Given the description of an element on the screen output the (x, y) to click on. 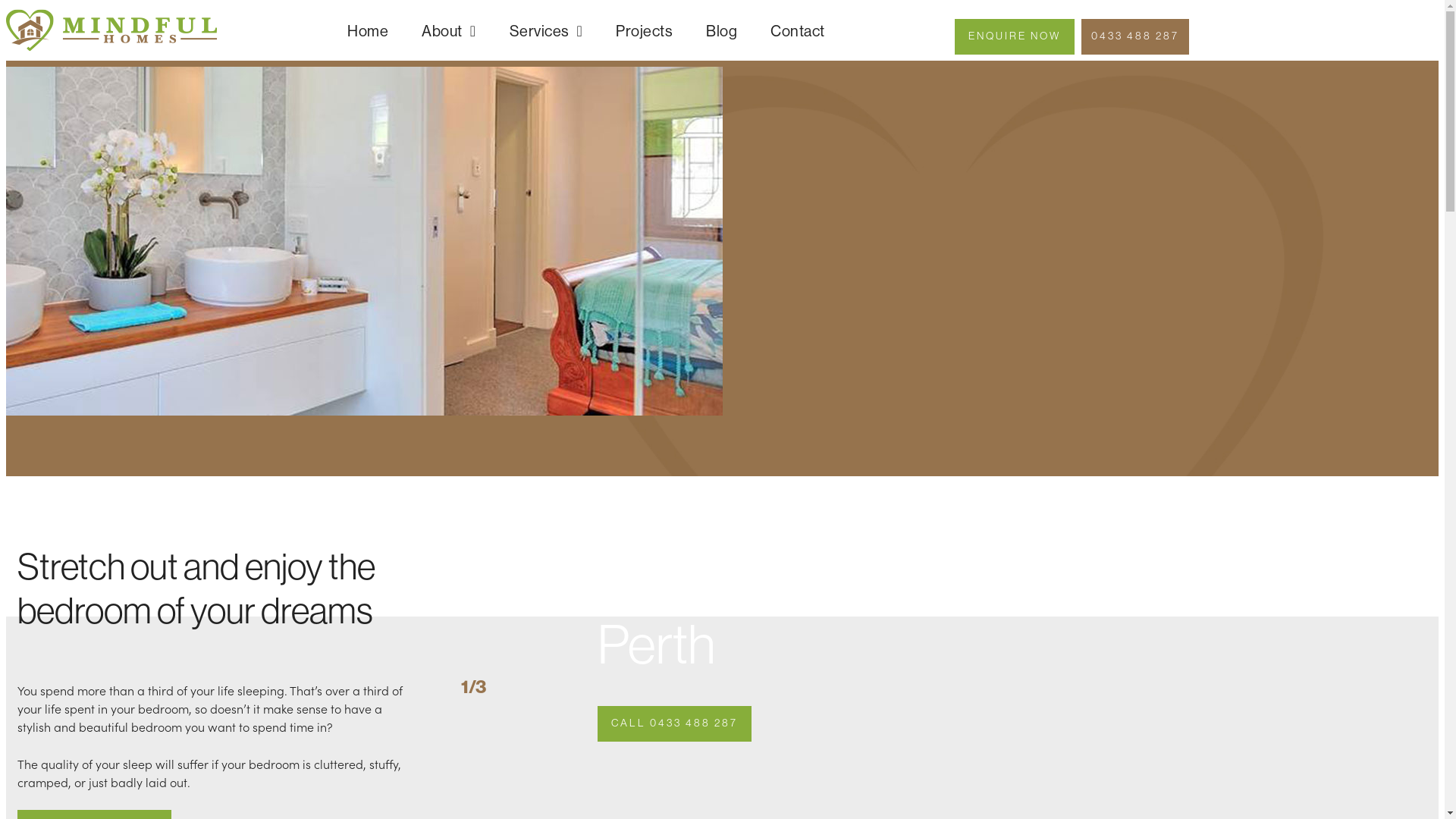
Blog Element type: text (721, 30)
Home Element type: text (367, 30)
CALL 0433 488 287 Element type: text (674, 723)
ENQUIRE NOW Element type: text (1014, 35)
About Element type: text (448, 30)
1/3 Element type: text (472, 686)
0433 488 287 Element type: text (1135, 35)
Services Element type: text (545, 30)
Projects Element type: text (644, 30)
Contact Element type: text (797, 30)
